Given the description of an element on the screen output the (x, y) to click on. 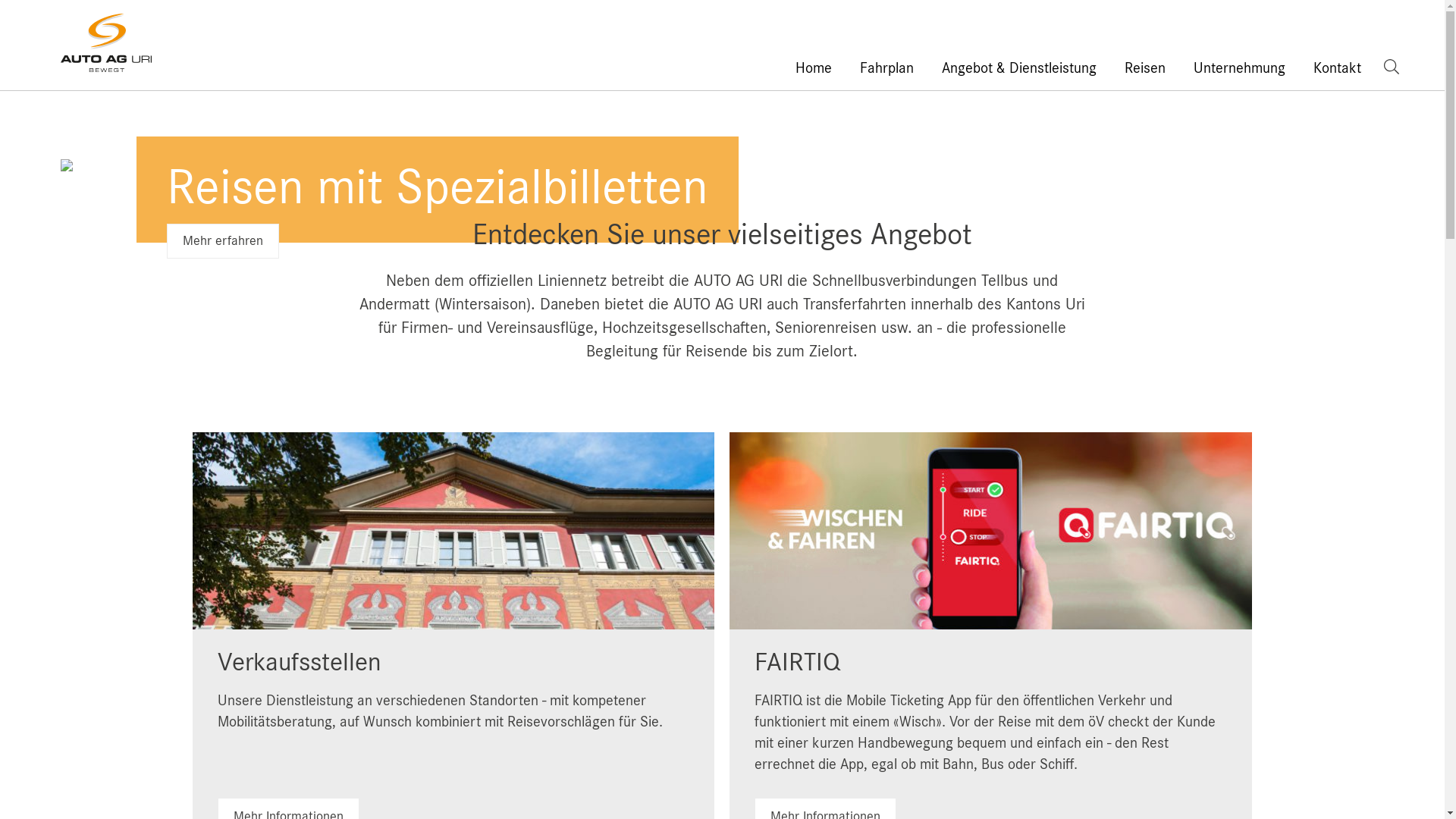
Unternehmung Element type: text (1253, 67)
Reisen Element type: text (1158, 67)
Angebot & Dienstleistung Element type: text (1032, 67)
Fahrplan Element type: text (900, 67)
Home Element type: text (827, 67)
Kontakt Element type: text (1348, 67)
Mehr erfahren Element type: text (222, 240)
